Given the description of an element on the screen output the (x, y) to click on. 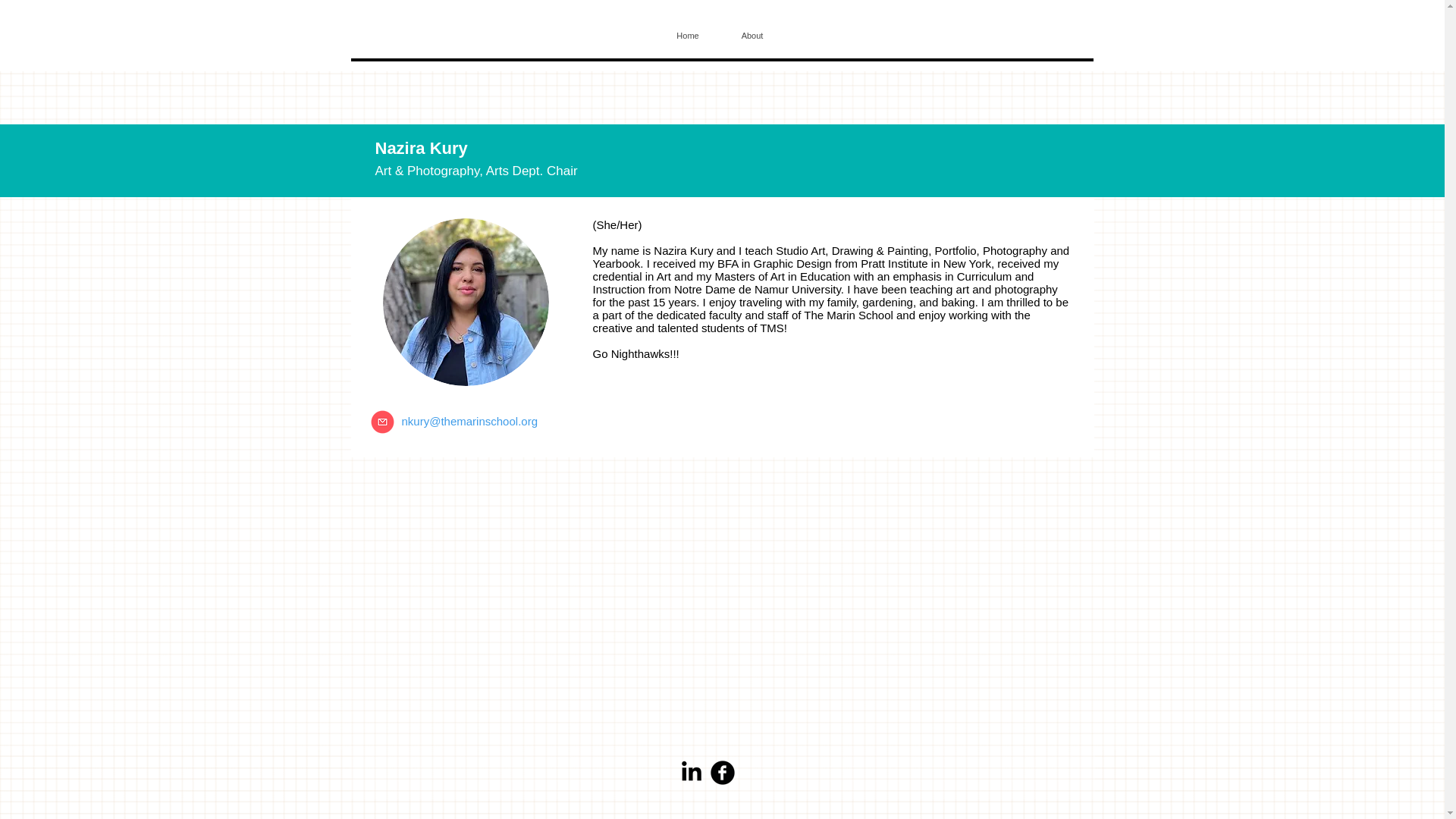
About (751, 35)
Home (687, 35)
